Given the description of an element on the screen output the (x, y) to click on. 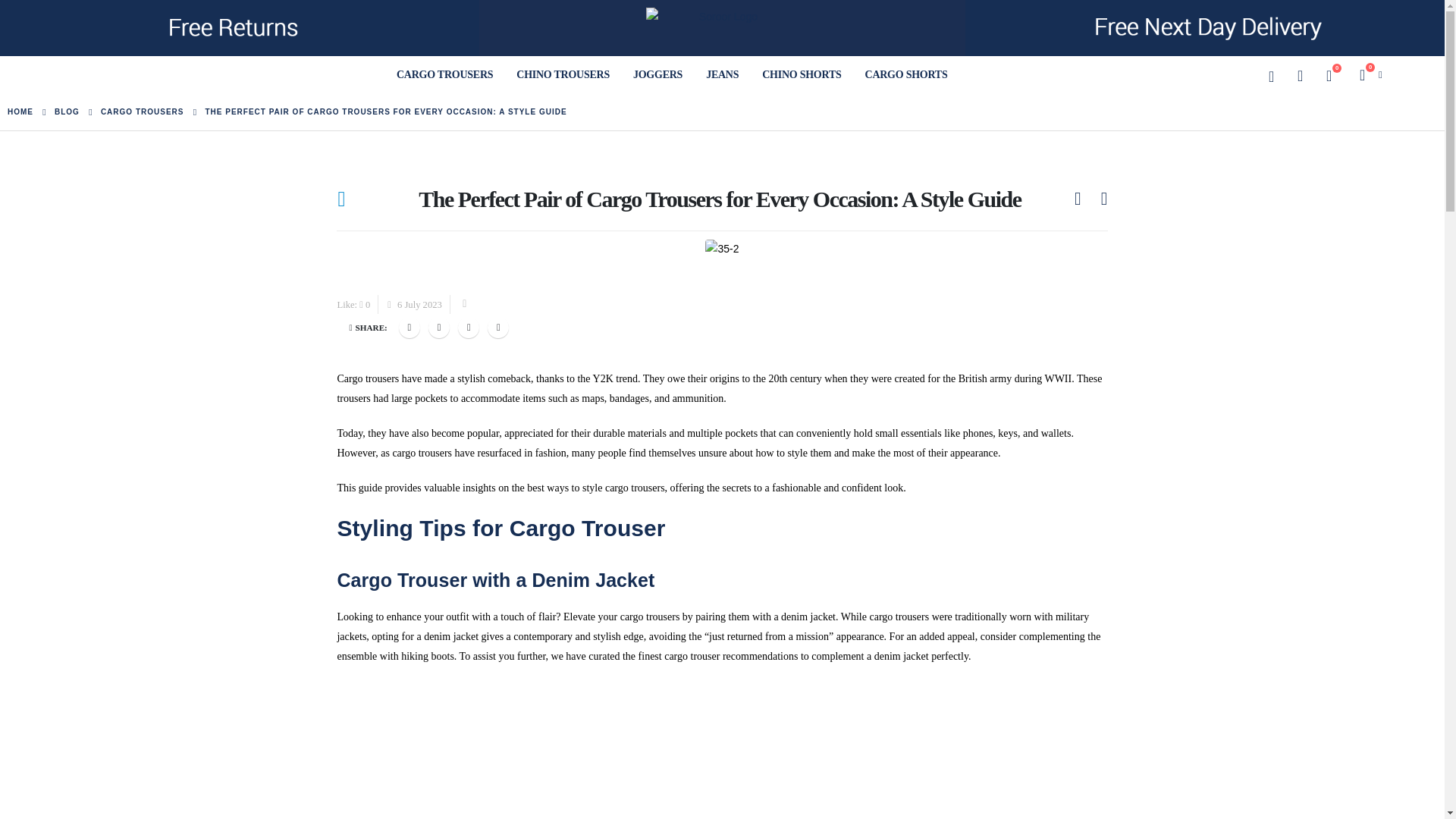
BLOG (67, 112)
Like (364, 304)
Email (497, 327)
HOME (20, 112)
CARGO SHORTS (906, 74)
Facebook (409, 327)
Facebook (409, 327)
CARGO TROUSERS (142, 112)
My Account (1299, 75)
0 (1329, 75)
